Given the description of an element on the screen output the (x, y) to click on. 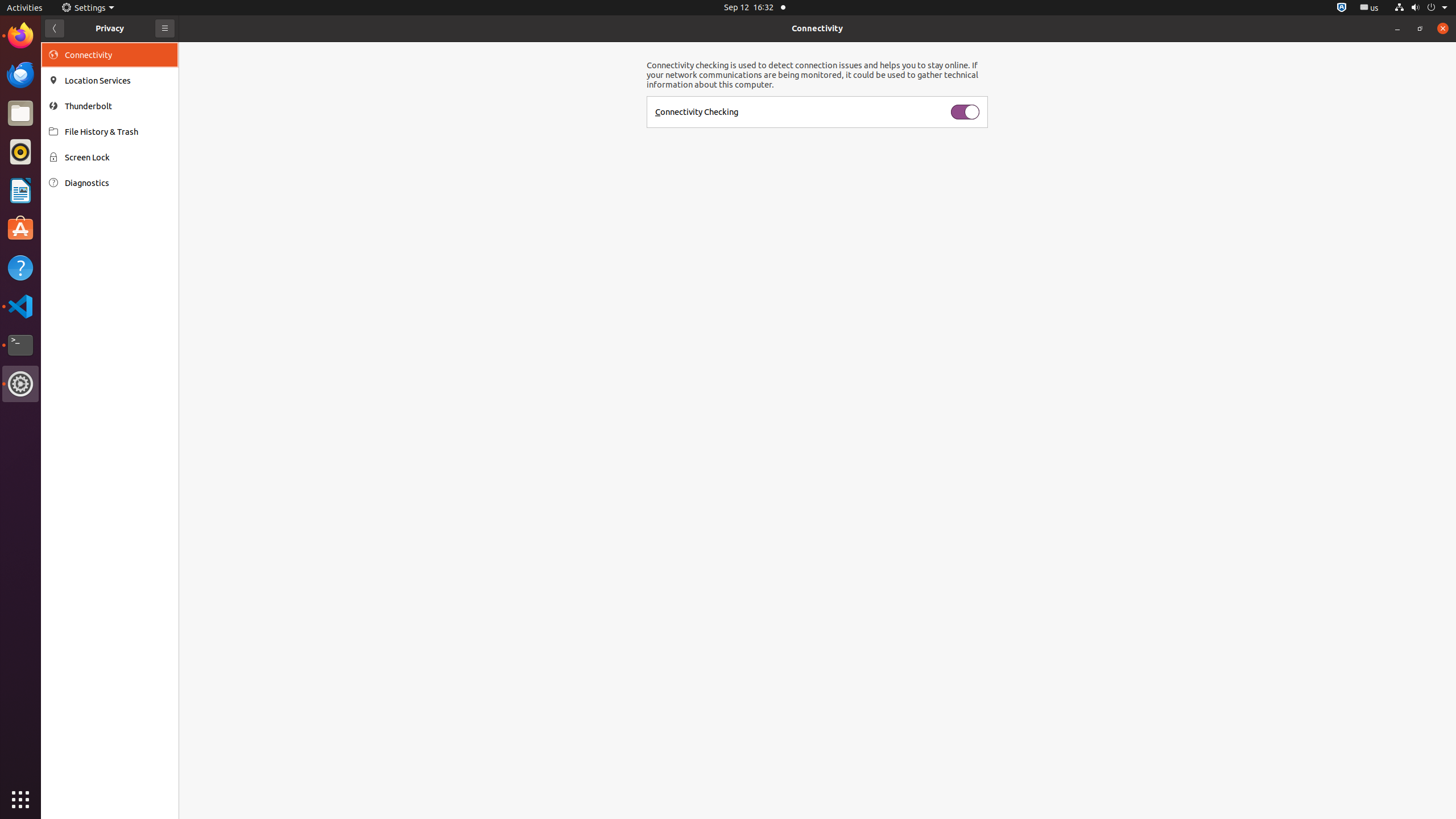
Trash Element type: label (75, 108)
Connectivity Element type: label (816, 27)
Settings Element type: menu (87, 7)
